Given the description of an element on the screen output the (x, y) to click on. 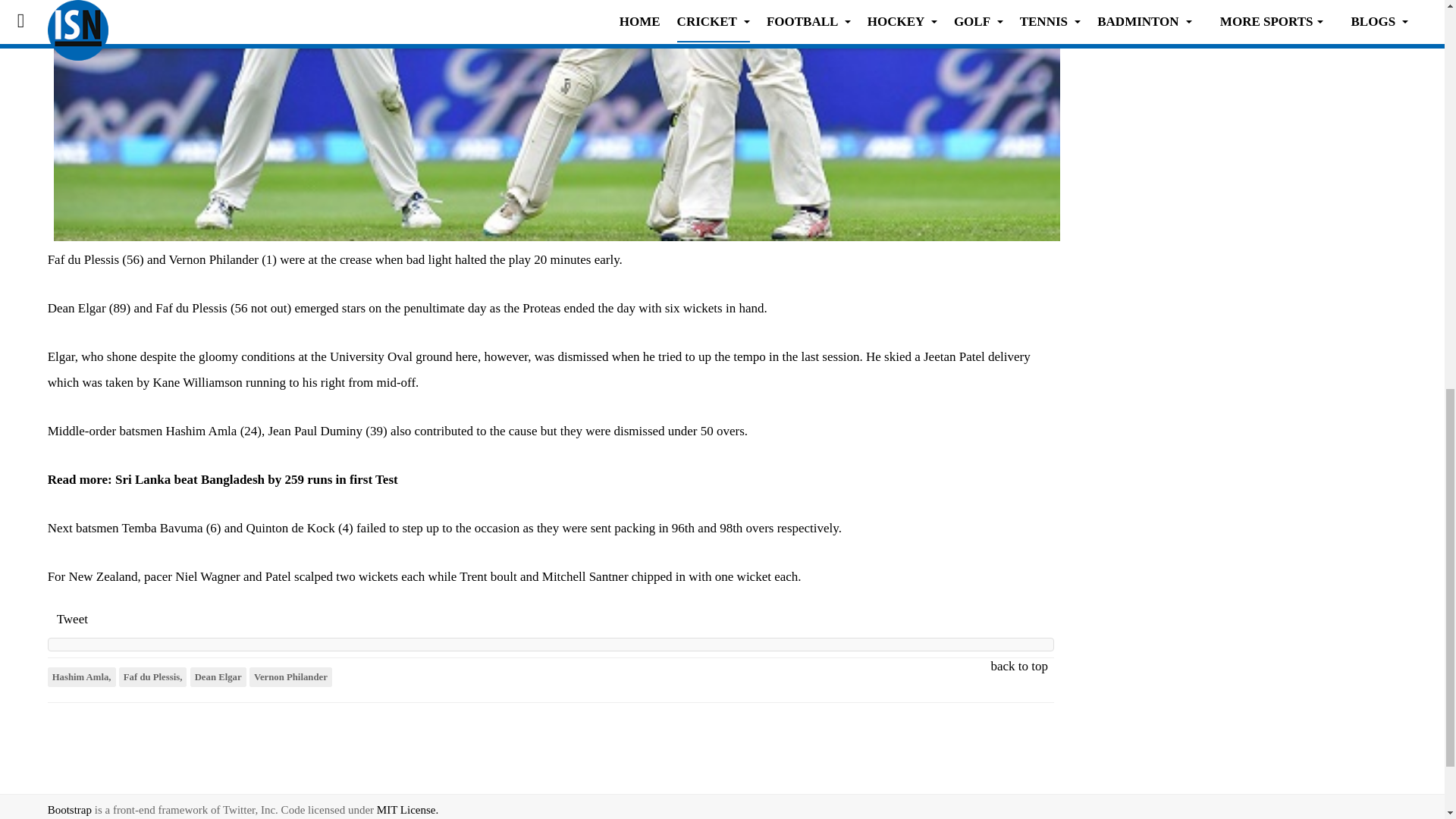
MIT License (407, 809)
Back to Top (1411, 806)
Bootstrap by Twitter (69, 809)
